Given the description of an element on the screen output the (x, y) to click on. 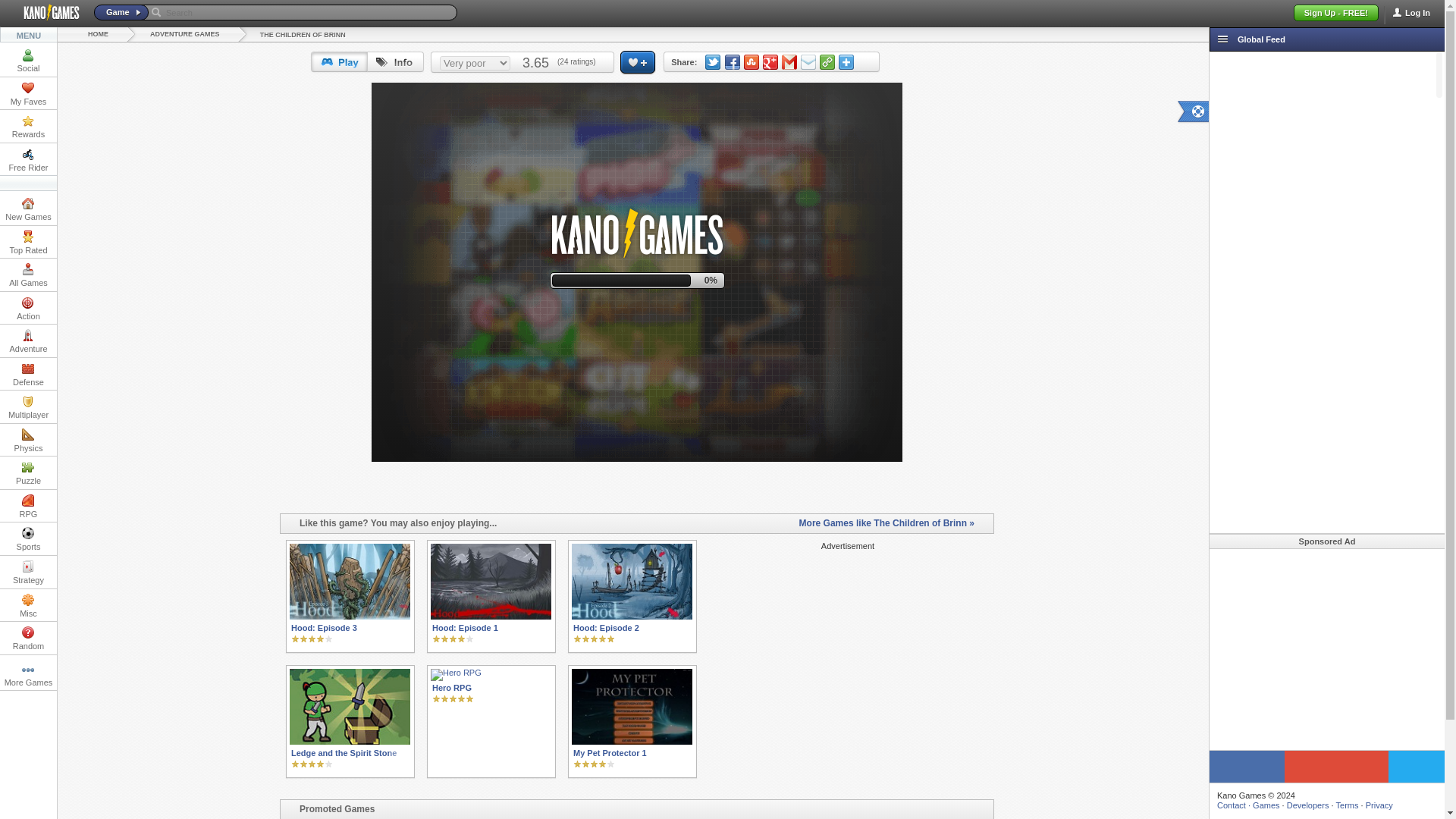
Random (28, 637)
Defense (28, 373)
Physics (28, 440)
Adventure (28, 340)
RPG (28, 505)
Top Rated (28, 242)
Kano Games (44, 13)
All Games (28, 274)
Social (28, 60)
Multiplayer (28, 406)
Strategy (28, 572)
My Faves (28, 92)
Puzzle (28, 472)
Misc (28, 604)
New Games (28, 208)
